Given the description of an element on the screen output the (x, y) to click on. 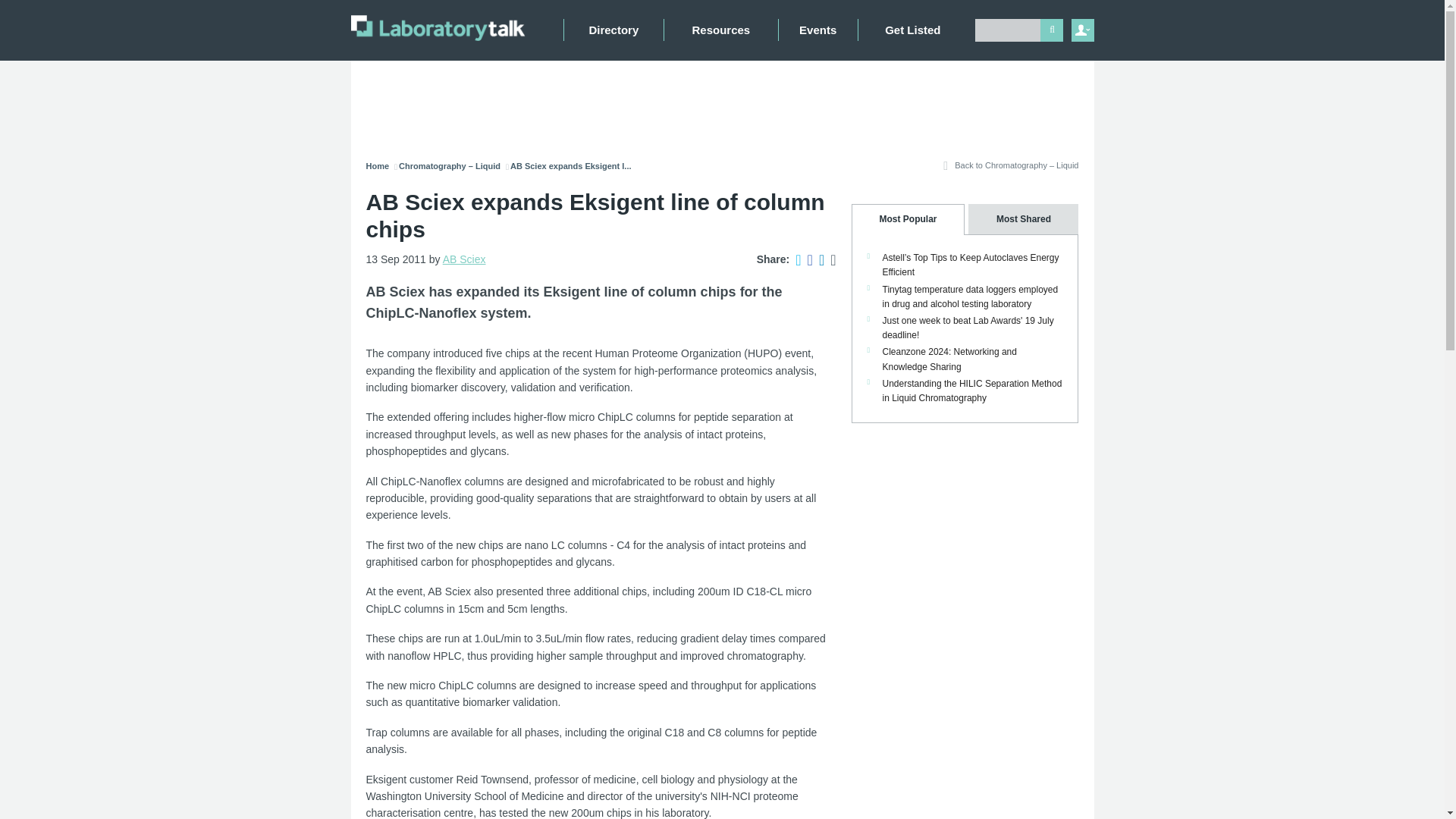
Resources (720, 29)
Share on Twitter (794, 259)
Share on LinkedIn (818, 259)
Home (376, 165)
Cleanzone 2024: Networking and Knowledge Sharing (949, 358)
3rd party ad content (725, 101)
Just one week to beat Lab Awards' 19 July deadline! (968, 327)
AB Sciex (464, 259)
Share on Facebook (807, 259)
Most Popular (906, 219)
Directory (612, 29)
Events (817, 29)
Share via Email (829, 259)
